Given the description of an element on the screen output the (x, y) to click on. 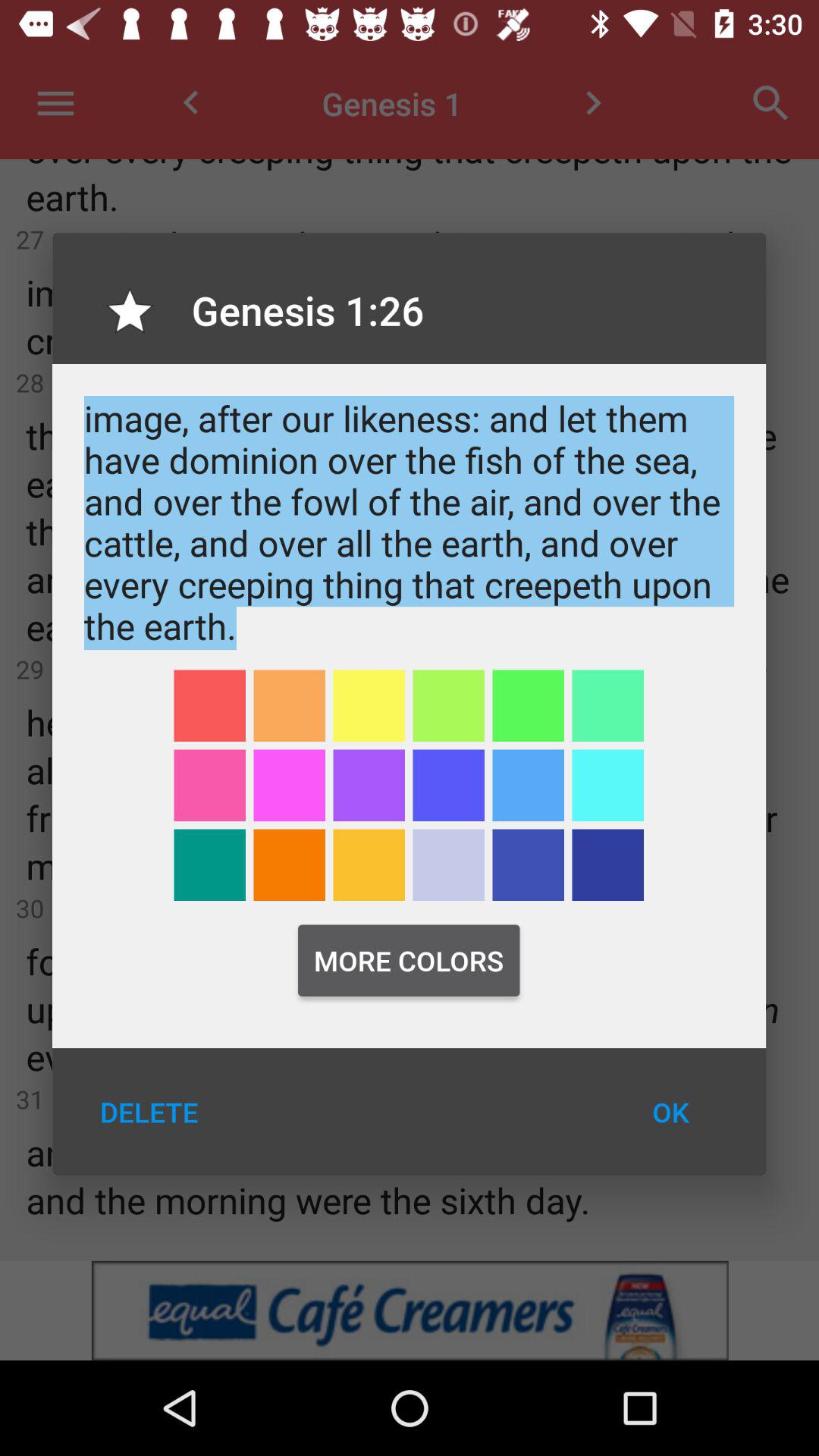
color selection (607, 785)
